Given the description of an element on the screen output the (x, y) to click on. 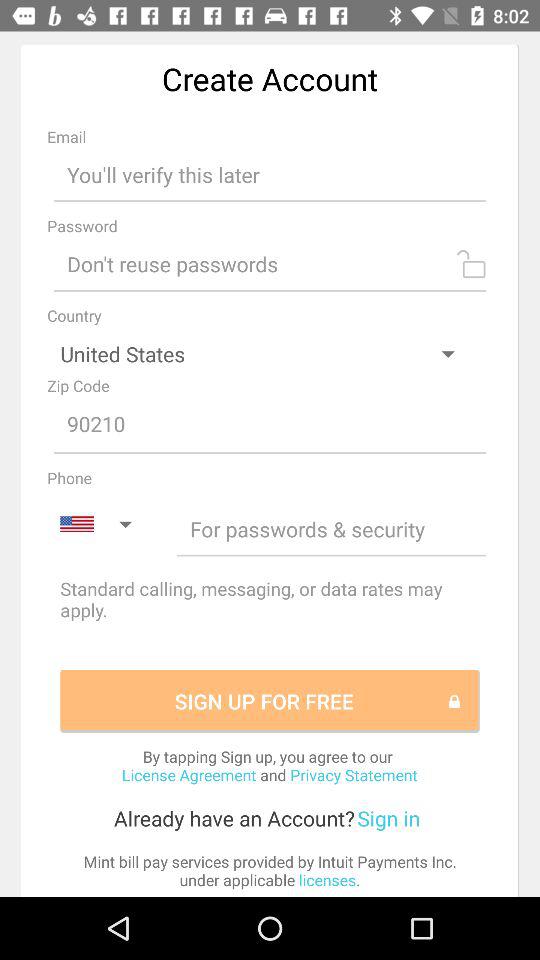
input password (270, 263)
